Given the description of an element on the screen output the (x, y) to click on. 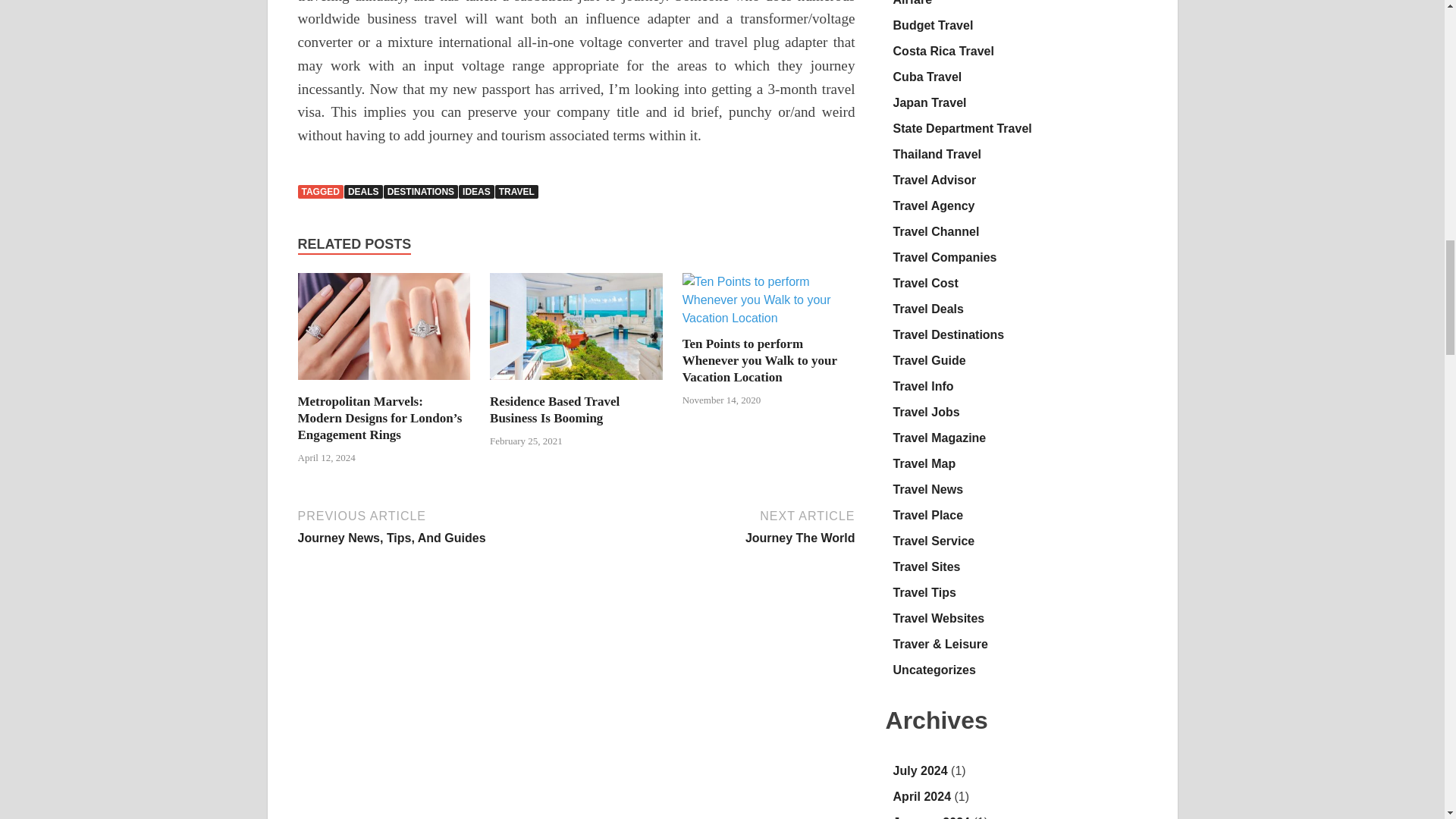
Residence Based Travel Business Is Booming (554, 409)
Residence Based Travel Business Is Booming (575, 383)
